Given the description of an element on the screen output the (x, y) to click on. 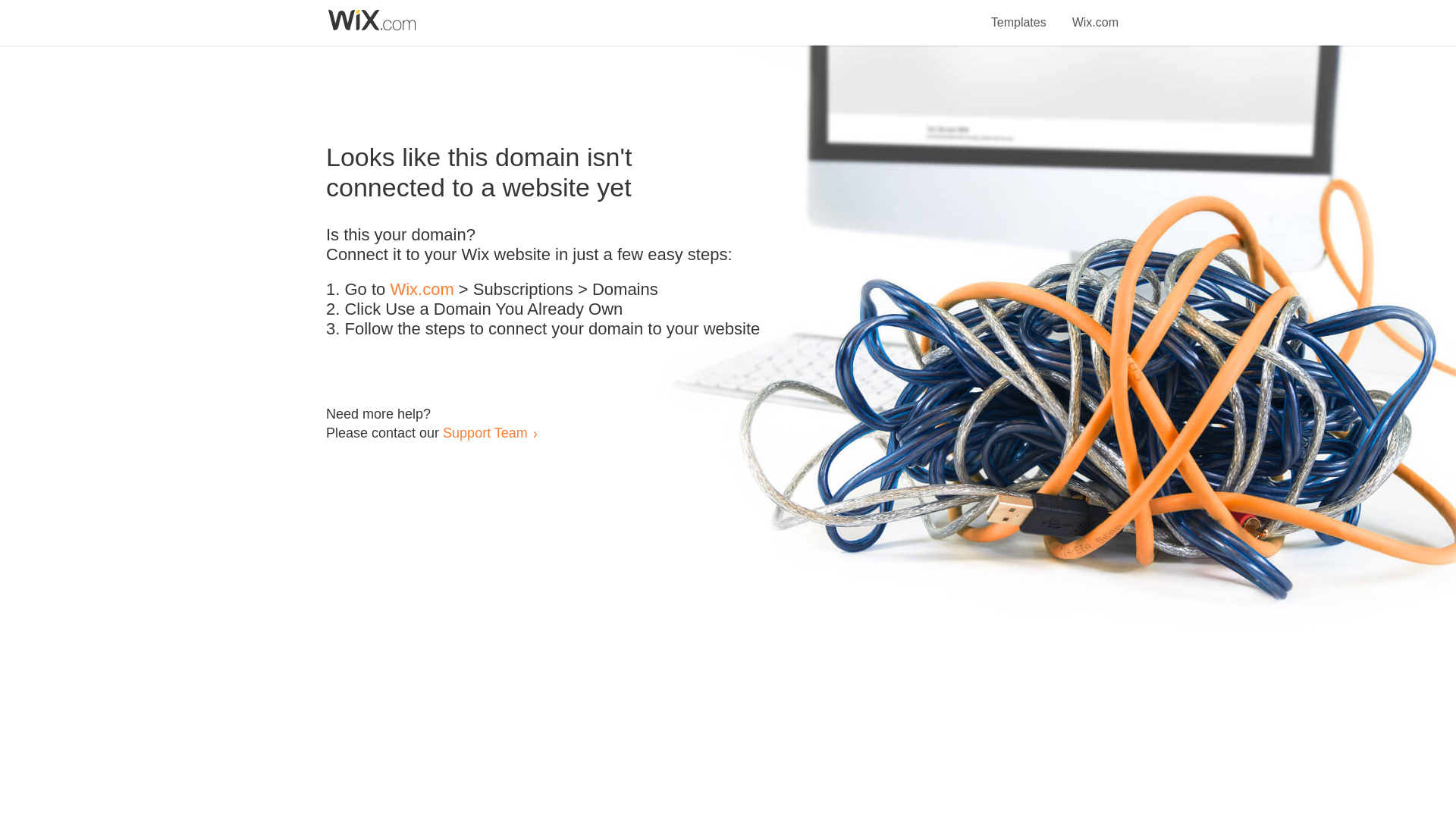
Support Team (484, 432)
Wix.com (1095, 14)
Wix.com (421, 289)
Templates (1018, 14)
